Given the description of an element on the screen output the (x, y) to click on. 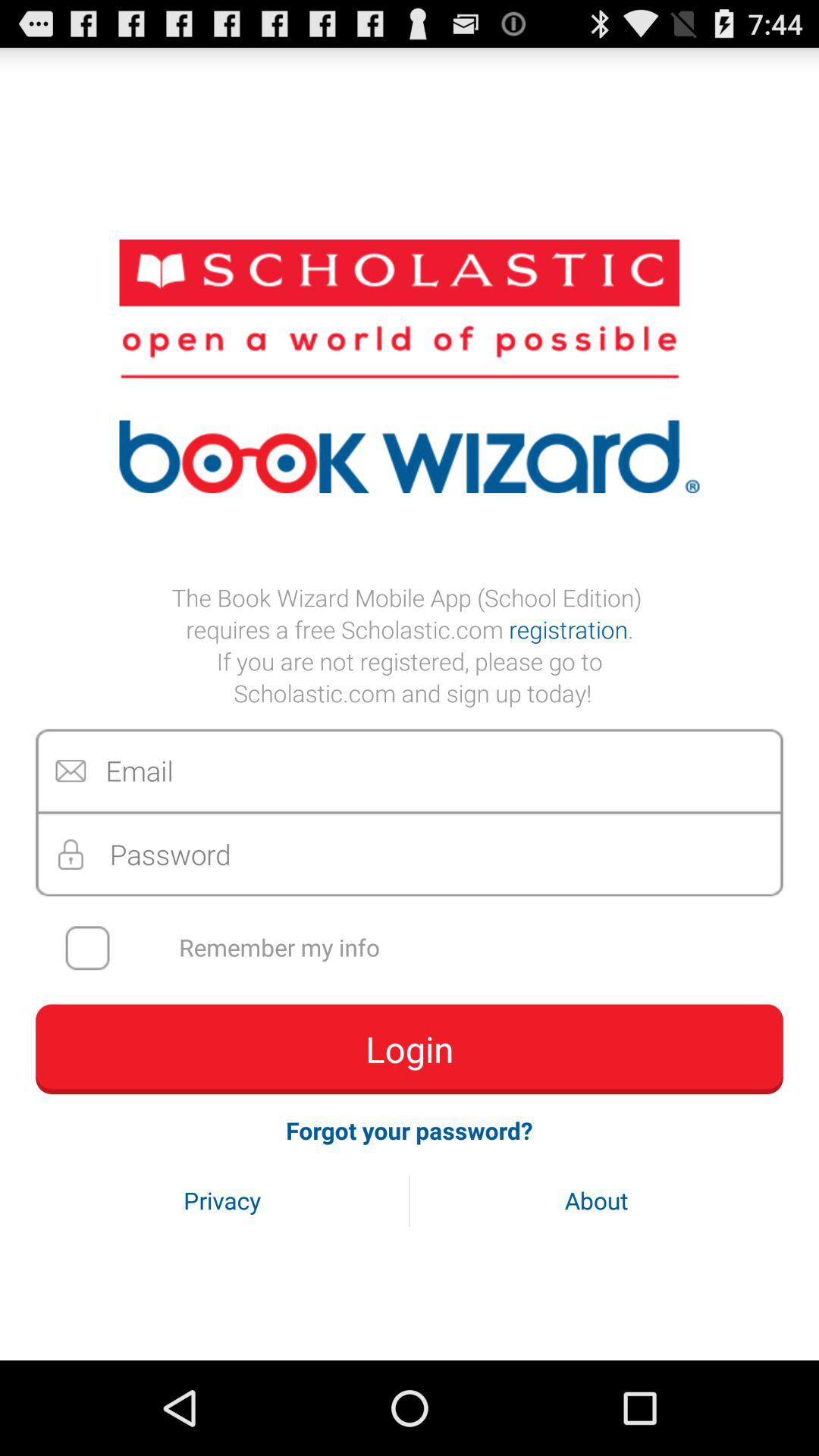
click privacy item (221, 1200)
